Given the description of an element on the screen output the (x, y) to click on. 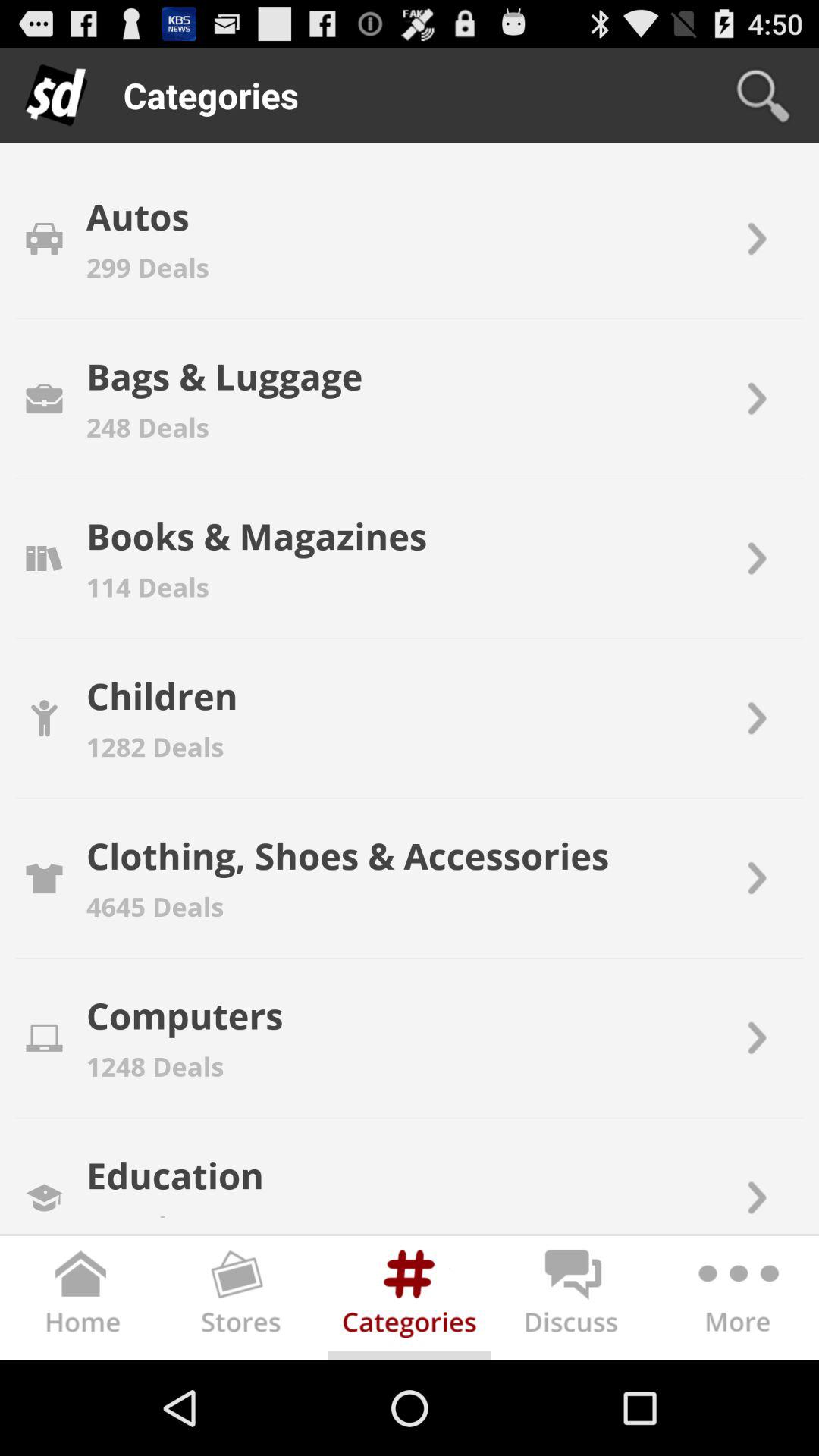
jump to 3 deals (132, 1210)
